Given the description of an element on the screen output the (x, y) to click on. 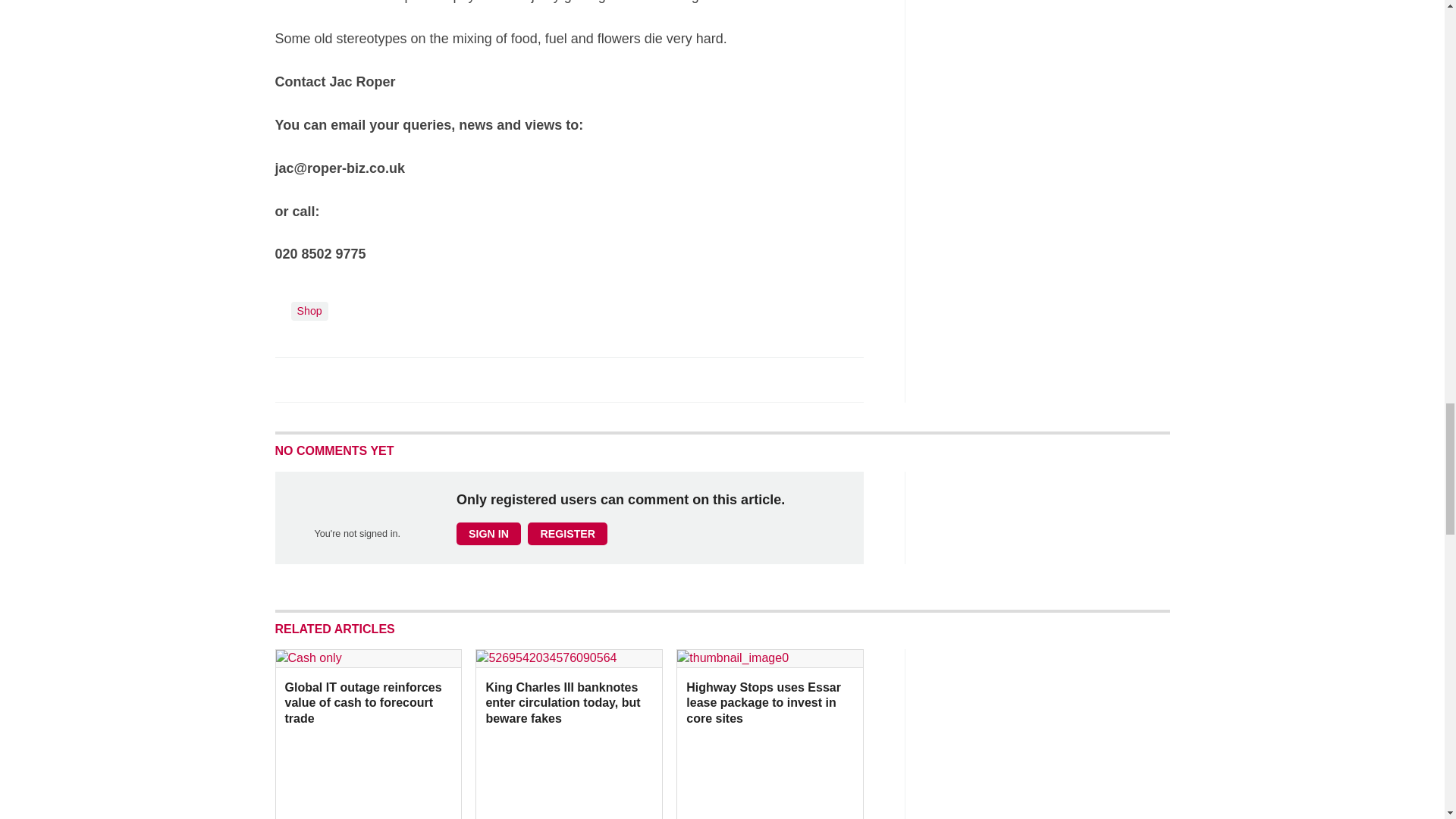
Share this on Twitter (320, 379)
Email this article (386, 379)
Share this on Linked in (352, 379)
Share this on Facebook (288, 379)
No comments (840, 387)
